Given the description of an element on the screen output the (x, y) to click on. 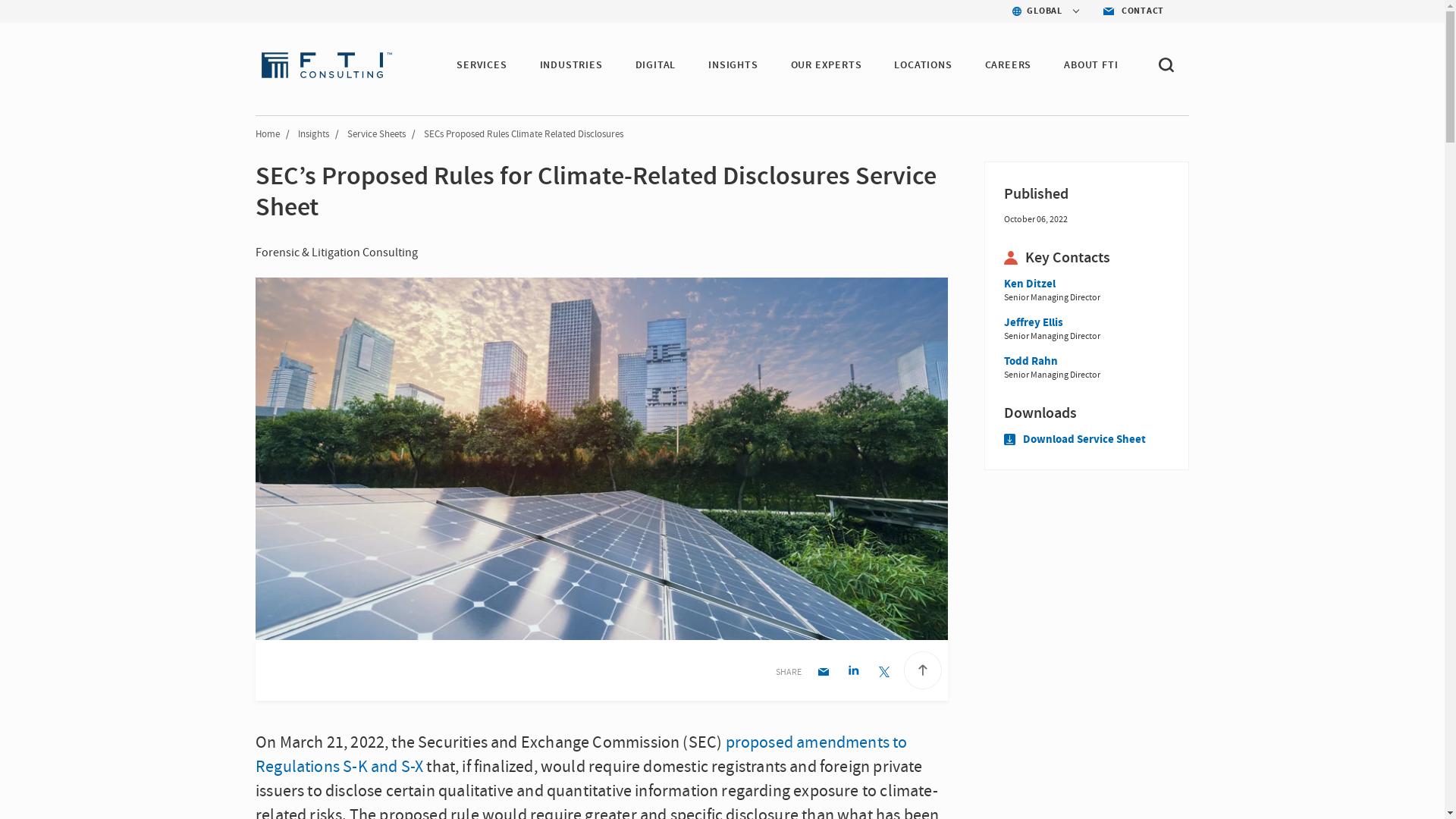
Key Contacts (1086, 257)
LinkedIn (853, 672)
Download Service Sheet (1074, 439)
Date (1086, 194)
CONTACT (1129, 11)
Twitter (883, 672)
Download (1086, 412)
SERVICES (481, 65)
Email (823, 672)
INDUSTRIES (571, 65)
